Given the description of an element on the screen output the (x, y) to click on. 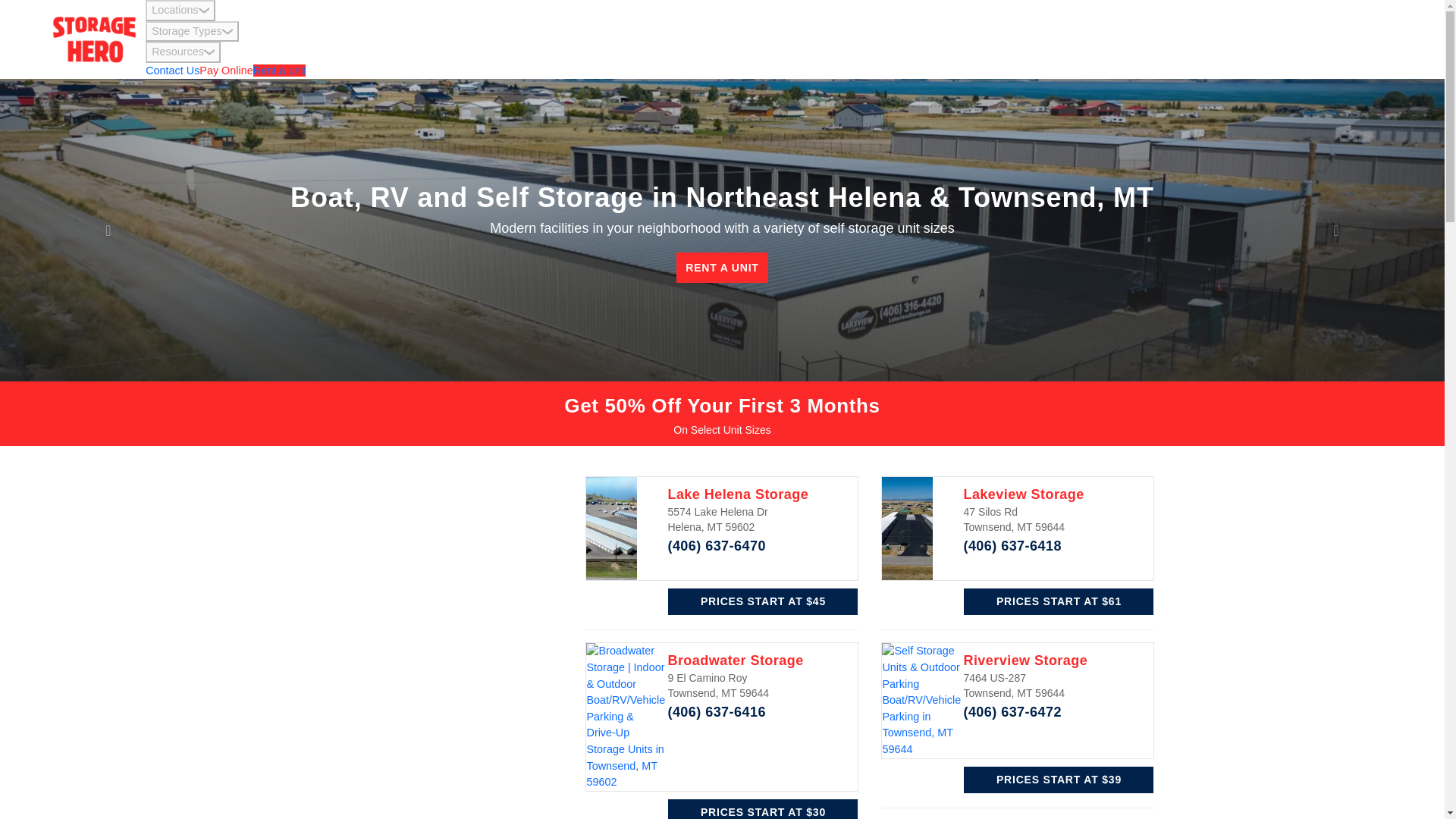
Storage Typesgroup (191, 31)
group (203, 10)
group (209, 52)
Lakeview Storage (1022, 494)
Previous (108, 229)
Resourcesgroup (183, 52)
Pay Online (225, 70)
group (227, 31)
RENT A UNIT (722, 267)
Rent a unit (279, 70)
Locationsgroup (180, 10)
Riverview Storage (1024, 660)
Lake Helena Storage (737, 494)
Broadwater Storage (734, 660)
Contact Us (172, 70)
